Given the description of an element on the screen output the (x, y) to click on. 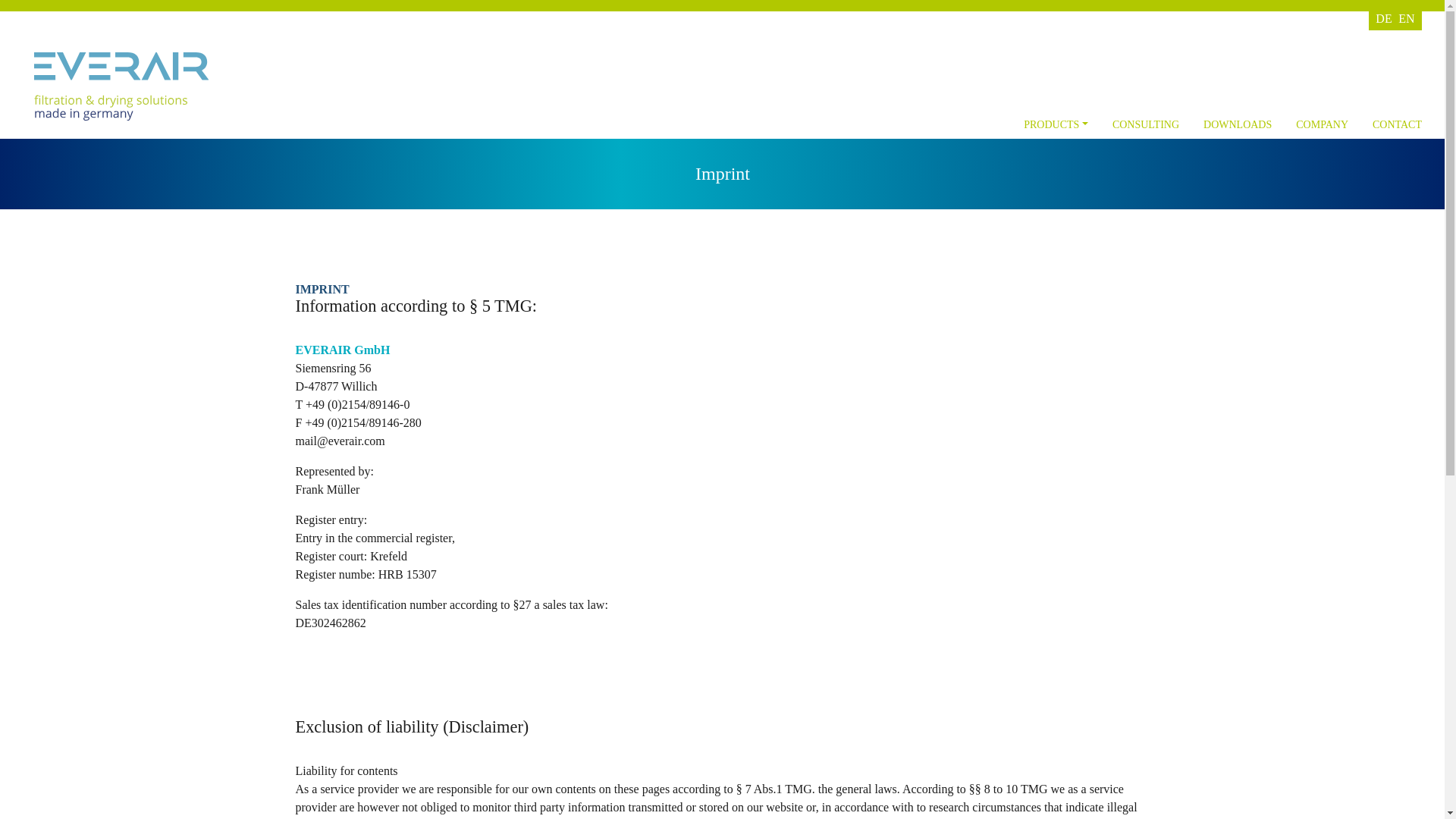
CONSULTING (1145, 124)
CONSULTING (1145, 124)
COMPANY (1322, 124)
COMPANY (1322, 124)
CONTACT (1394, 124)
DOWNLOADS (1237, 124)
PRODUCTS (1055, 124)
EN (1405, 18)
DOWNLOADS (1237, 124)
CONTACT (1394, 124)
DE (1383, 18)
